Given the description of an element on the screen output the (x, y) to click on. 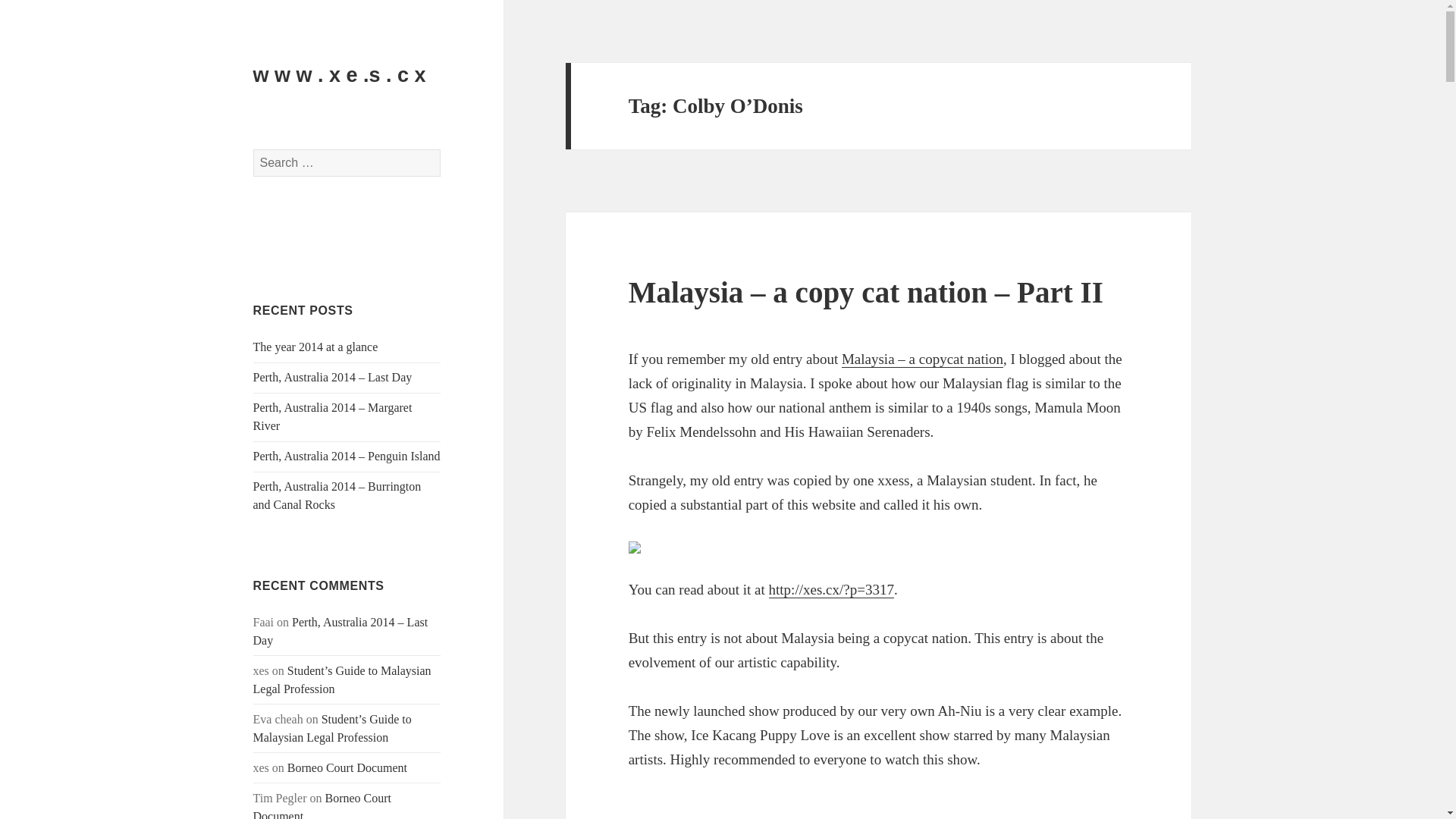
w w w . x e .s . c x (339, 74)
Borneo Court Document (346, 767)
Borneo Court Document (322, 805)
The year 2014 at a glance (315, 346)
